Given the description of an element on the screen output the (x, y) to click on. 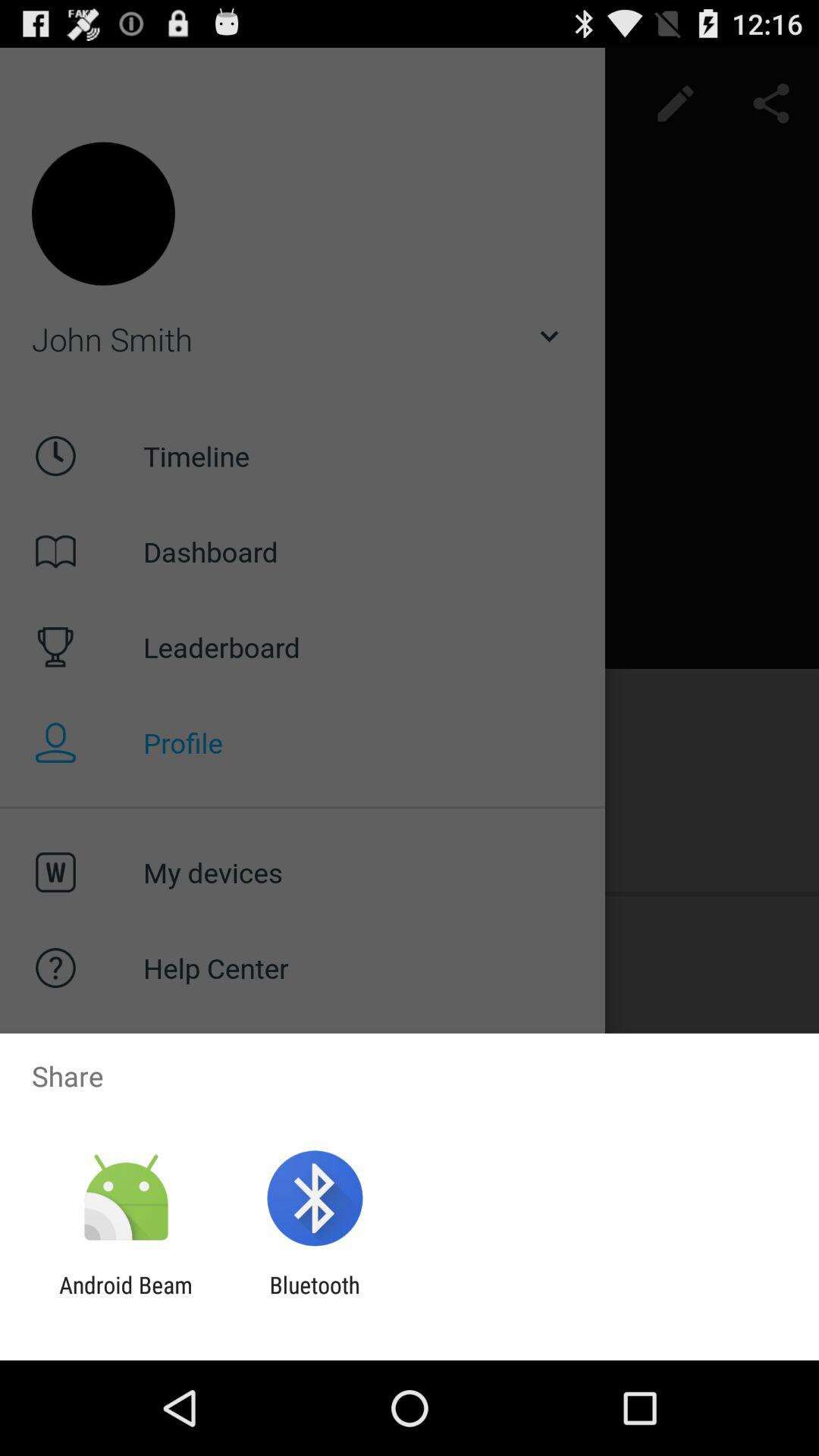
flip until the bluetooth app (314, 1298)
